Given the description of an element on the screen output the (x, y) to click on. 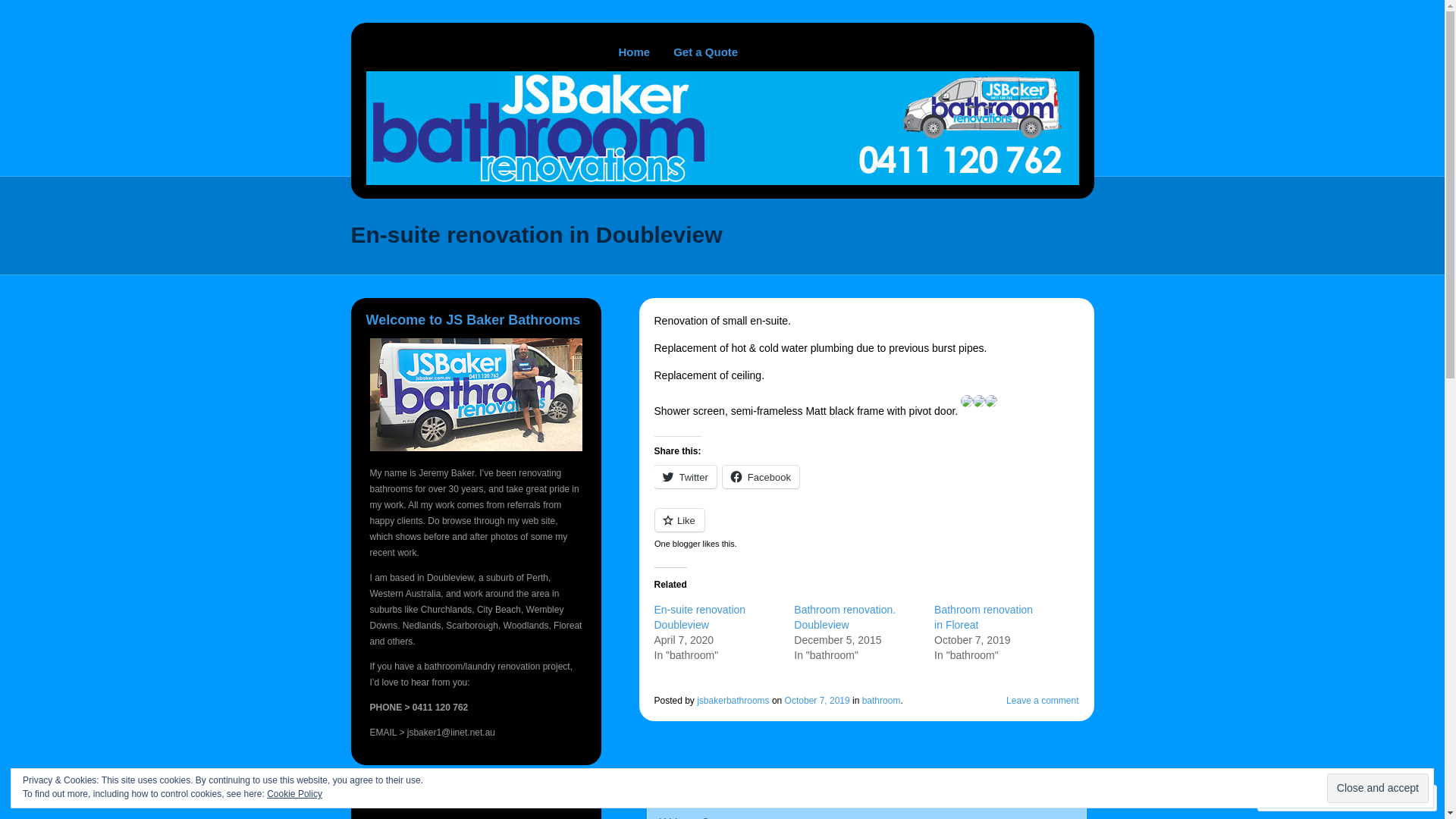
Bathroom renovation in Floreat Element type: text (983, 616)
Twitter Element type: text (684, 476)
Comment Element type: text (1298, 797)
jsbakerbathrooms Element type: text (732, 700)
Home Element type: text (633, 51)
Get a Quote Element type: text (705, 51)
bathroom Element type: text (881, 700)
Leave a comment Element type: text (1042, 700)
jsbaker1@iinet.net.au Element type: text (451, 732)
Like or Reblog Element type: hover (865, 528)
Facebook Element type: text (760, 476)
Bathroom renovation. Doubleview Element type: text (844, 616)
October 7, 2019 Element type: text (817, 700)
Close and accept Element type: text (1377, 788)
Follow Element type: text (1374, 797)
En-suite renovation Doubleview Element type: text (699, 616)
Cookie Policy Element type: text (294, 793)
